Given the description of an element on the screen output the (x, y) to click on. 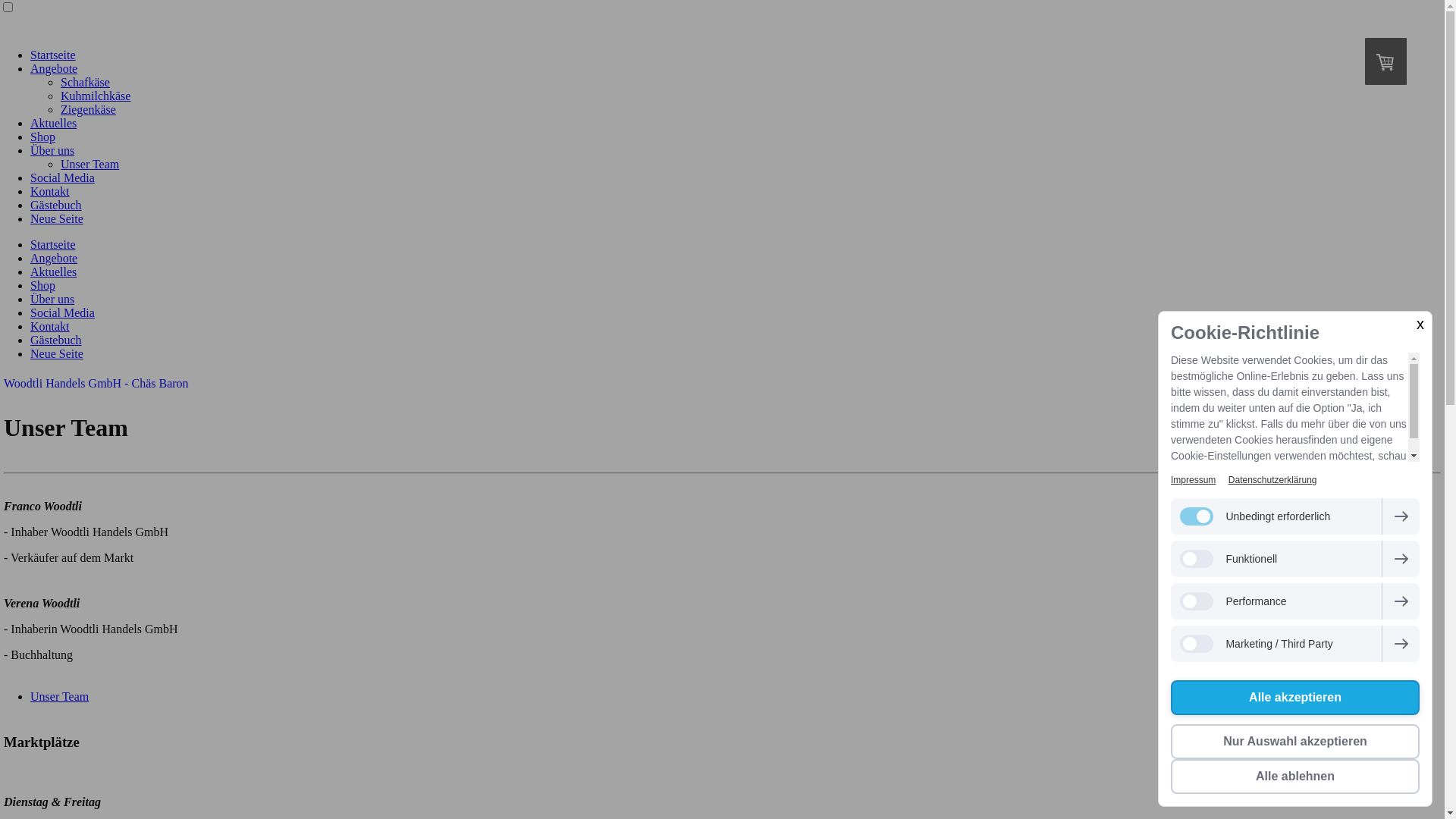
Aktuelles Element type: text (53, 122)
Unser Team Element type: text (59, 696)
Angebote Element type: text (53, 68)
Startseite Element type: text (52, 54)
Neue Seite Element type: text (56, 353)
Alle ablehnen Element type: text (1294, 776)
Startseite Element type: text (52, 244)
Kontakt Element type: text (49, 191)
Aktuelles Element type: text (53, 271)
Angebote Element type: text (53, 257)
Unser Team Element type: text (89, 163)
Kontakt Element type: text (49, 326)
Nur Auswahl akzeptieren Element type: text (1294, 741)
Impressum Element type: text (1192, 479)
Shop Element type: text (42, 136)
Social Media Element type: text (62, 177)
Neue Seite Element type: text (56, 218)
Shop Element type: text (42, 285)
Social Media Element type: text (62, 312)
Alle akzeptieren Element type: text (1294, 697)
